Given the description of an element on the screen output the (x, y) to click on. 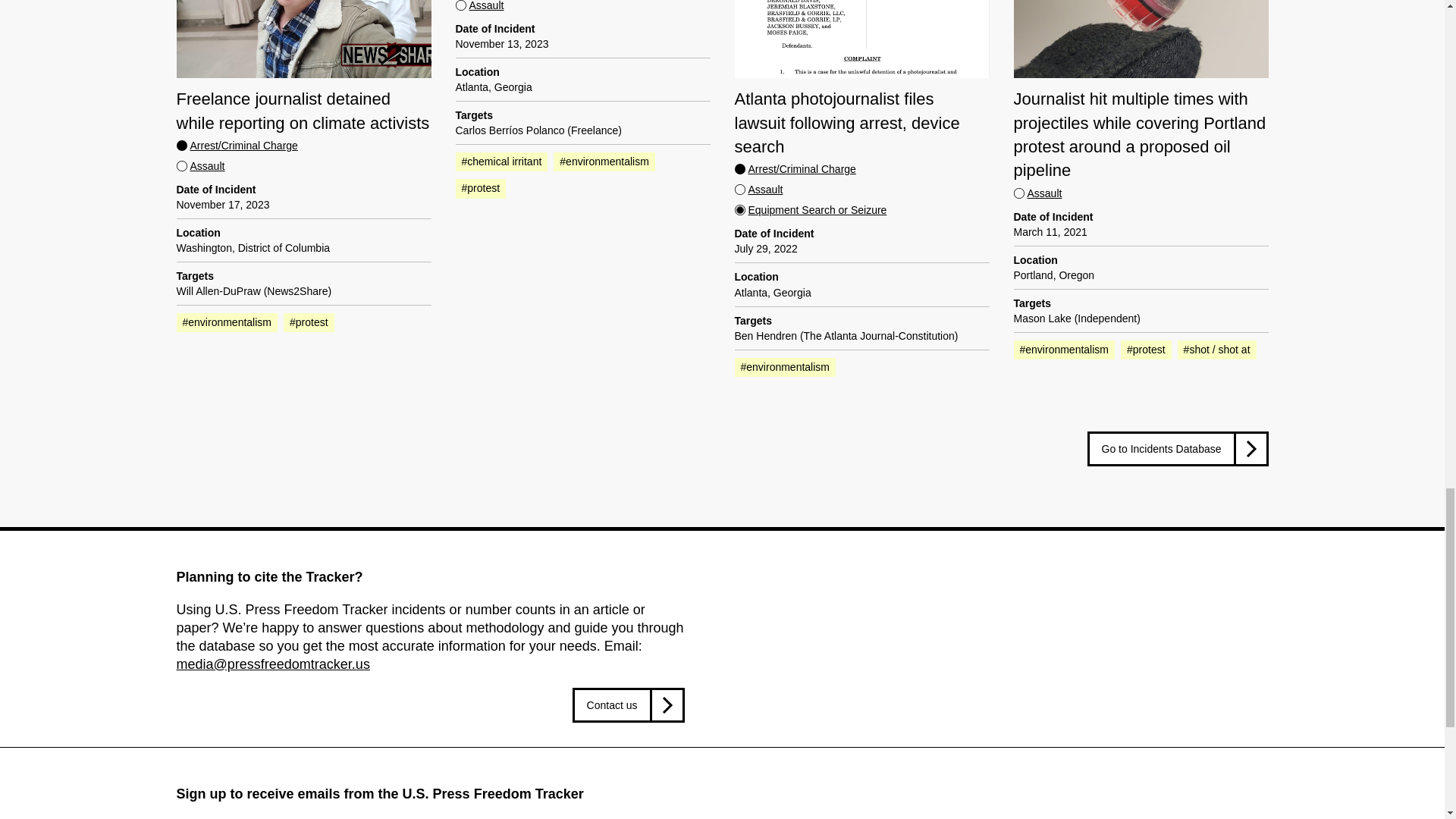
Assault (758, 189)
Assault (200, 165)
Assault (478, 5)
Equipment Search or Seizure (809, 209)
